Given the description of an element on the screen output the (x, y) to click on. 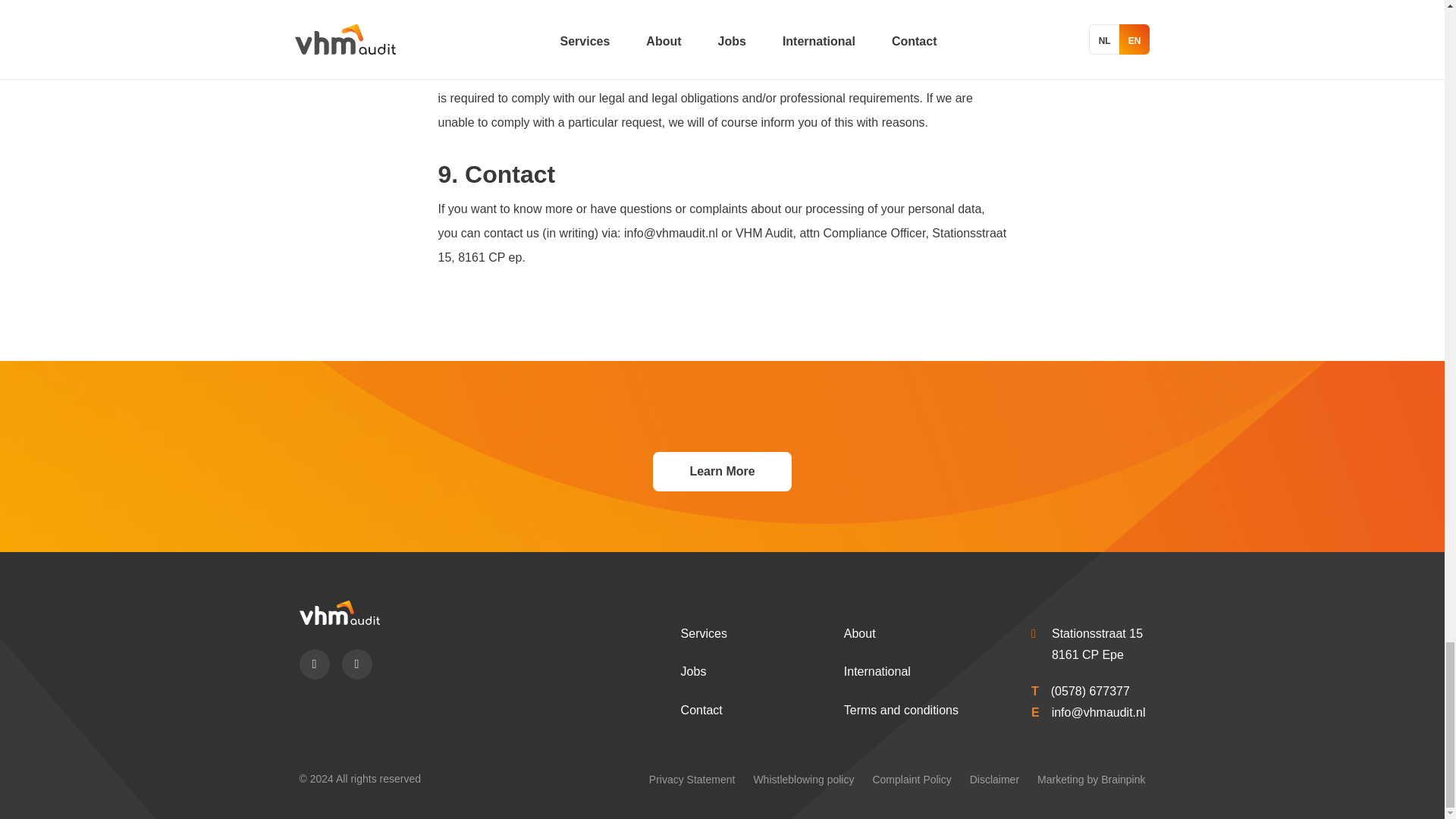
Contact (701, 709)
Whistleblowing policy (802, 779)
Brainpink (1122, 779)
About (860, 633)
Learn More (721, 471)
Complaint Policy (911, 779)
Terms and conditions (901, 709)
Jobs (693, 671)
Privacy Statement (692, 779)
Stationsstraat 15 (1096, 633)
Learn More (721, 471)
Services (703, 633)
Disclaimer (994, 779)
International (877, 671)
